Given the description of an element on the screen output the (x, y) to click on. 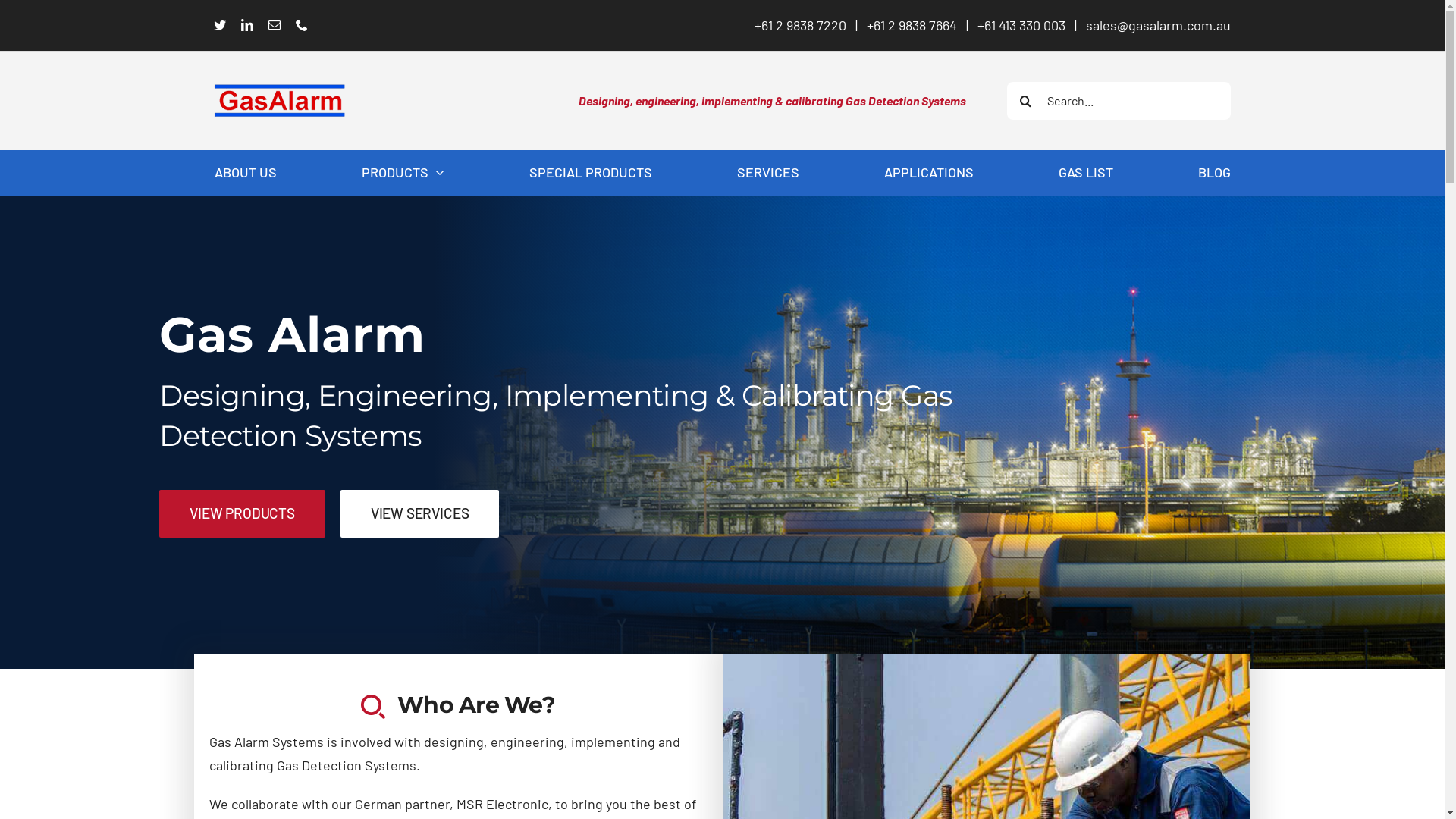
+61 2 9838 7220 Element type: text (800, 24)
BLOG Element type: text (1214, 172)
VIEW PRODUCTS Element type: text (242, 513)
SERVICES Element type: text (768, 172)
sales@gasalarm.com.au Element type: text (1157, 24)
+61 413 330 003 Element type: text (1021, 24)
PRODUCTS Element type: text (401, 172)
APPLICATIONS Element type: text (928, 172)
SPECIAL PRODUCTS Element type: text (590, 172)
+61 2 9838 7664 Element type: text (911, 24)
ABOUT US Element type: text (244, 172)
GAS LIST Element type: text (1085, 172)
VIEW SERVICES Element type: text (419, 513)
